Given the description of an element on the screen output the (x, y) to click on. 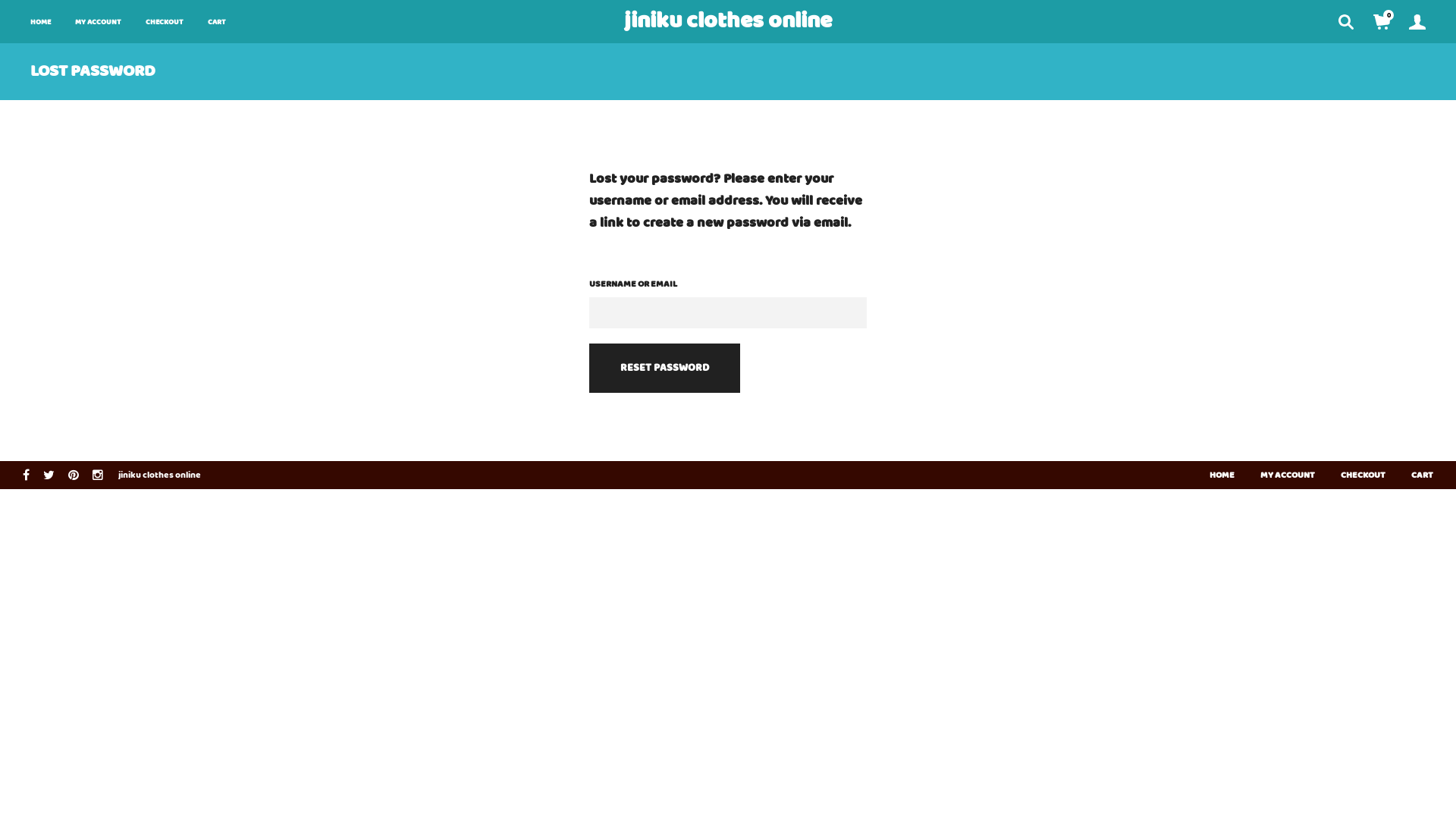
CART Element type: text (216, 21)
CHECKOUT Element type: text (164, 21)
HOME Element type: text (40, 21)
HOME Element type: text (1221, 475)
RESET PASSWORD Element type: text (664, 367)
0 Element type: text (1381, 21)
MY ACCOUNT Element type: text (97, 21)
CART Element type: text (1421, 475)
MY ACCOUNT Element type: text (1287, 475)
jiniku clothes online Element type: text (727, 20)
CHECKOUT Element type: text (1362, 475)
